Given the description of an element on the screen output the (x, y) to click on. 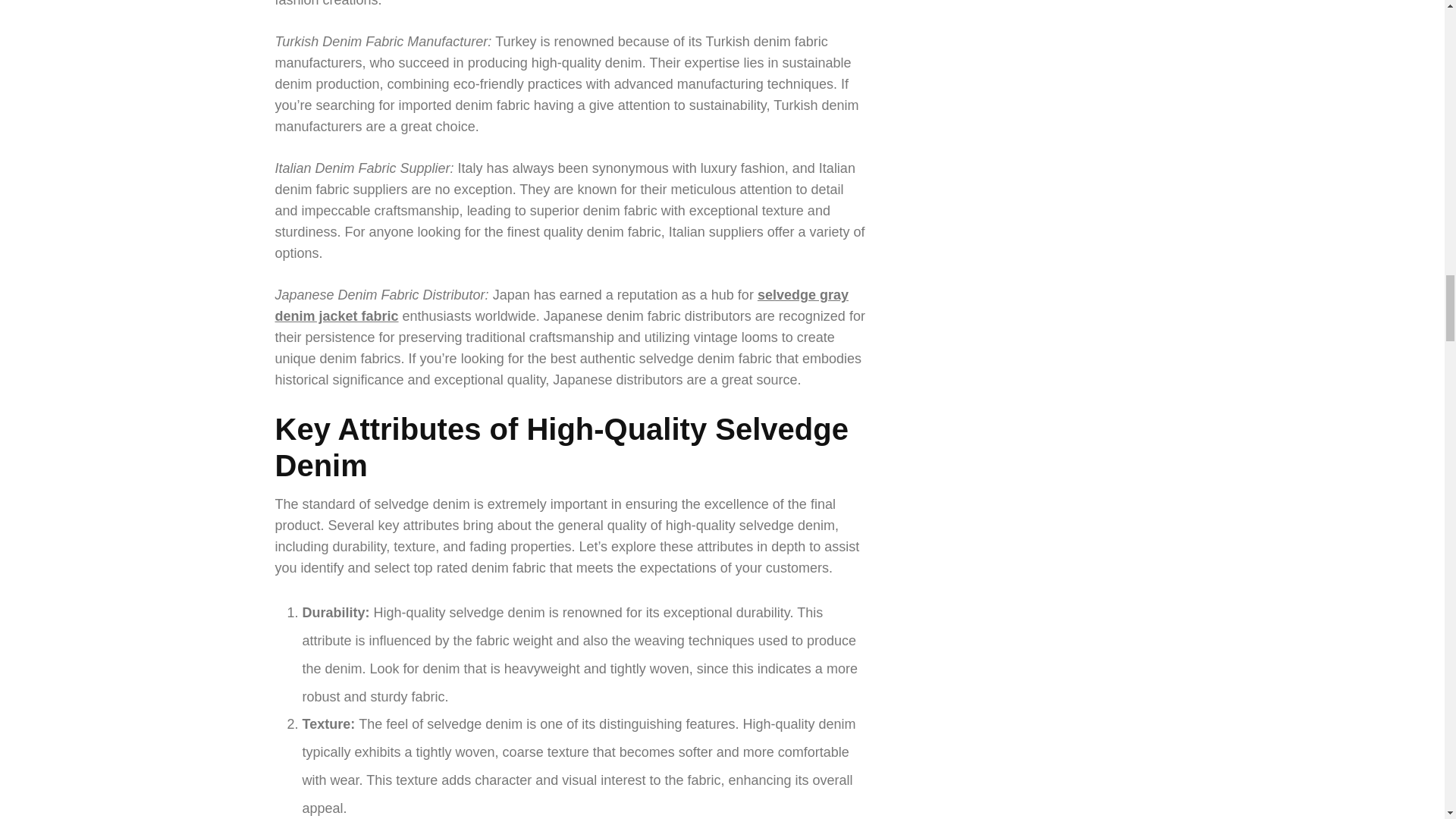
selvedge gray denim jacket fabric (561, 305)
